Given the description of an element on the screen output the (x, y) to click on. 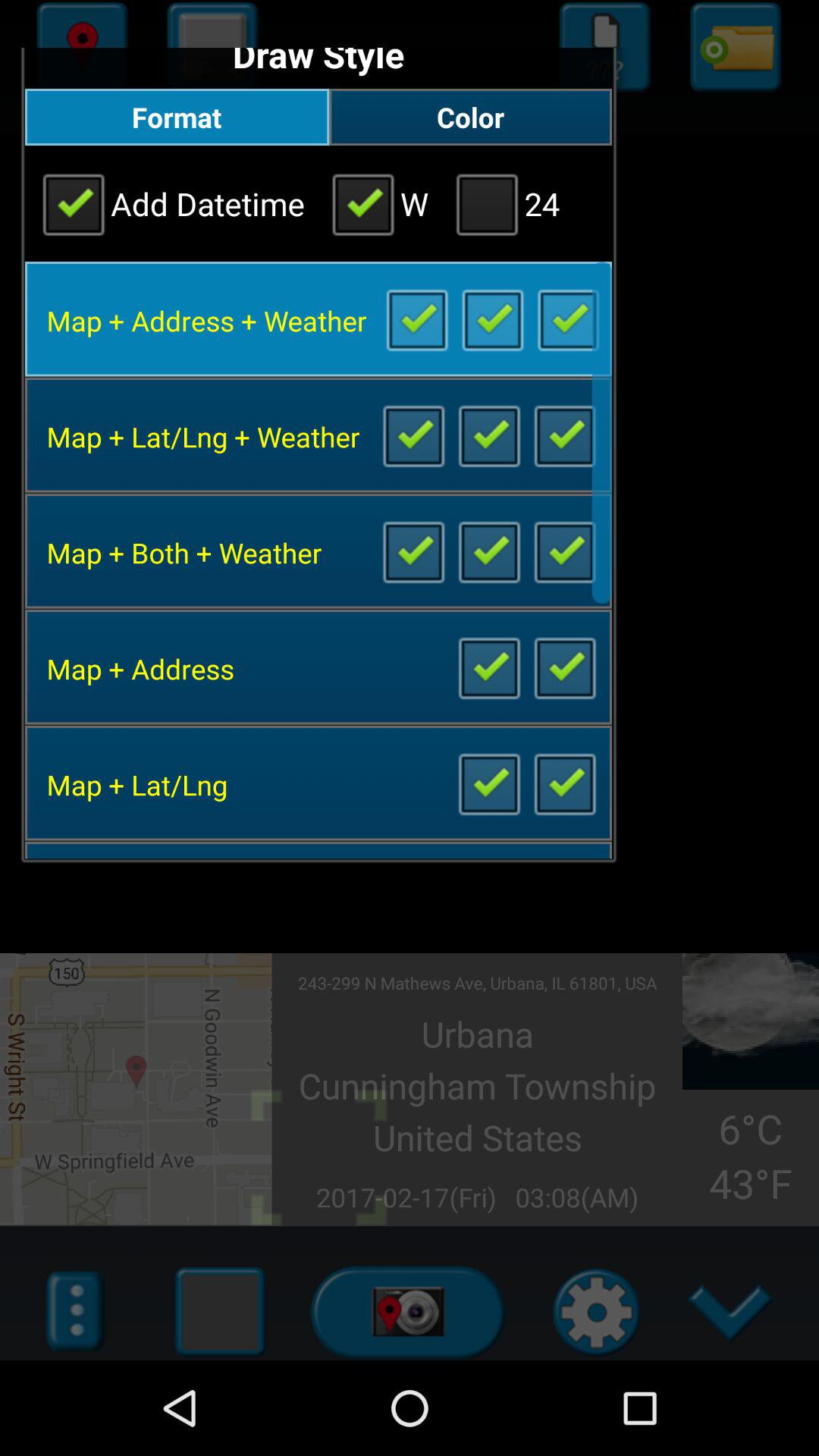
check (413, 550)
